Given the description of an element on the screen output the (x, y) to click on. 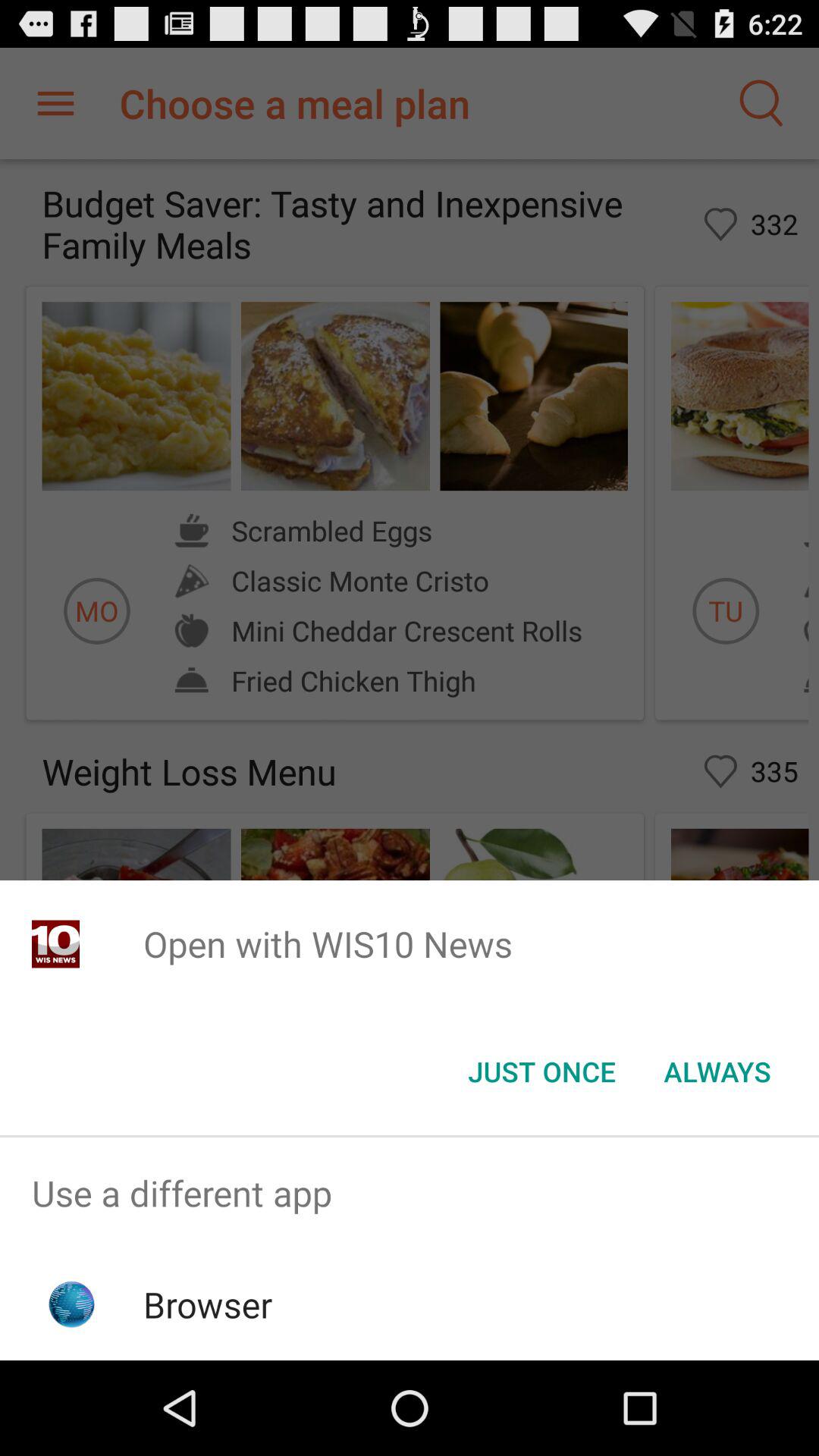
open the app below the use a different app (207, 1304)
